Given the description of an element on the screen output the (x, y) to click on. 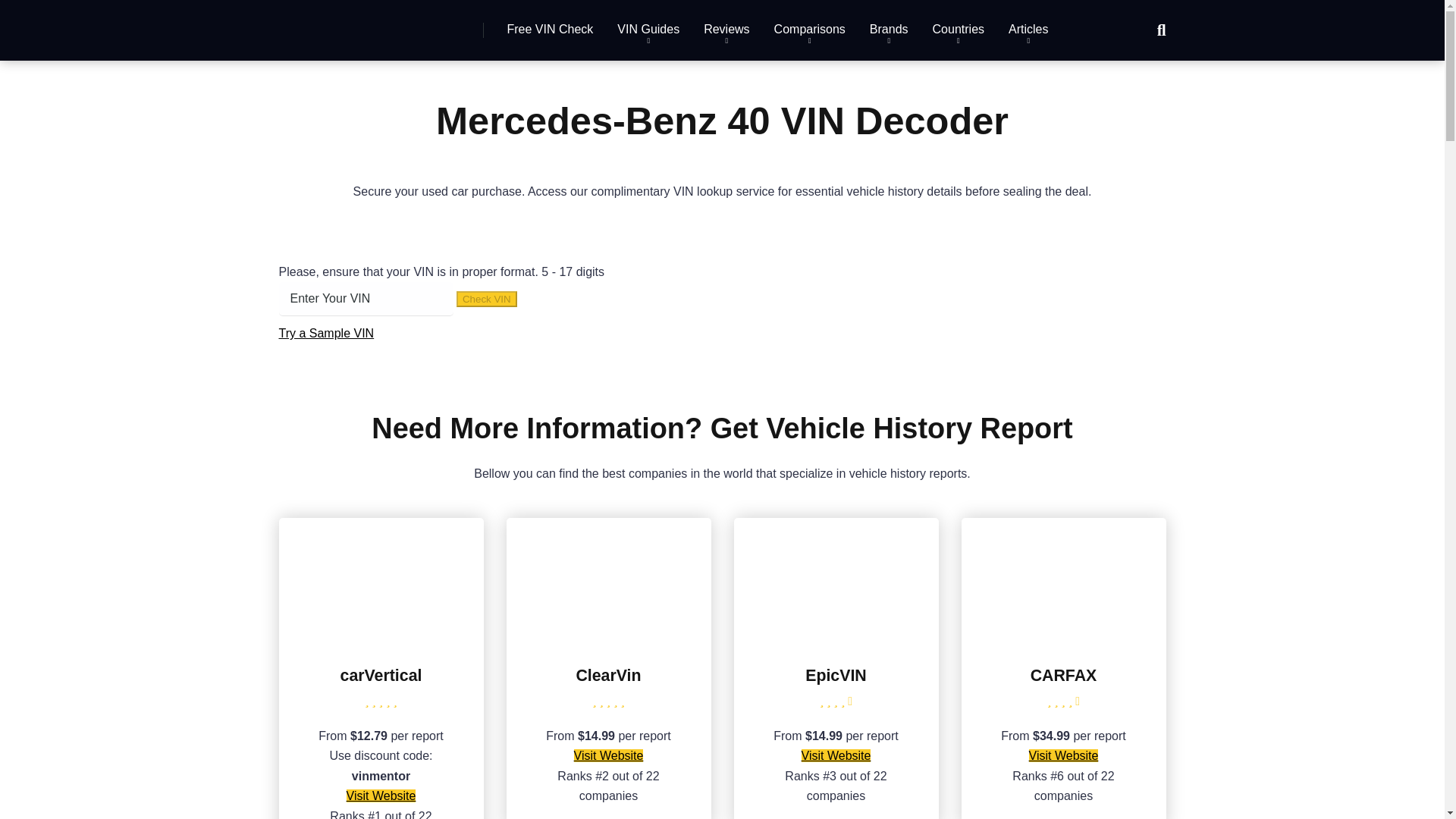
Visit Website (608, 755)
VIN Mentor (346, 24)
Comparisons (809, 30)
EpicVIN (835, 675)
VIN Guides (648, 30)
ClearVin (607, 675)
ClearVin (607, 638)
Brands (888, 30)
Free VIN Check (550, 30)
Countries (957, 30)
